Given the description of an element on the screen output the (x, y) to click on. 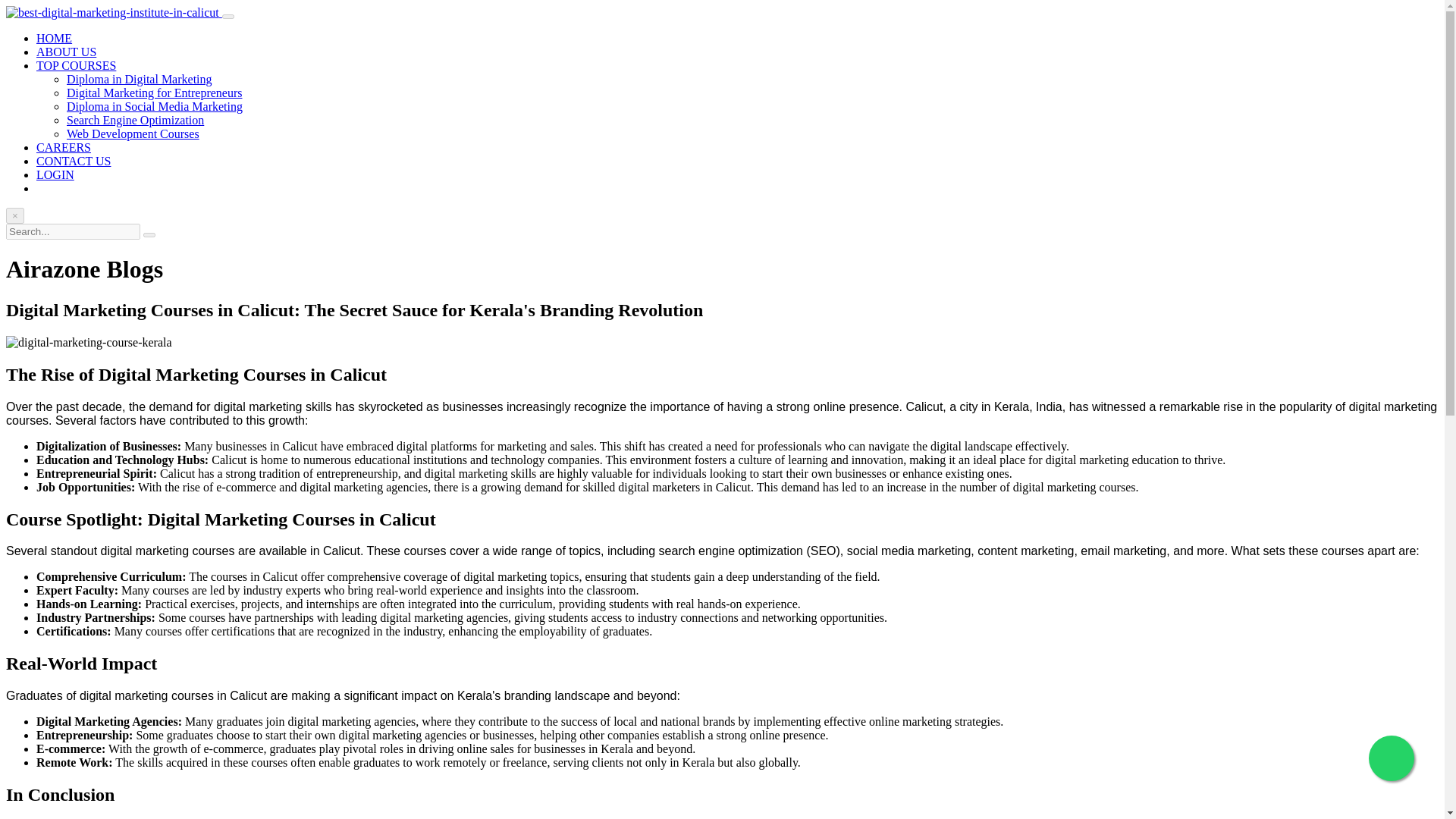
Search Engine Optimization (134, 119)
ABOUT US (66, 51)
Web Development Courses (132, 133)
CAREERS (63, 146)
Digital Marketing for Entrepreneurs (153, 92)
TOP COURSES (76, 65)
CONTACT US (73, 160)
Diploma in Digital Marketing (139, 78)
Diploma in Social Media Marketing (154, 106)
LOGIN (55, 174)
